Given the description of an element on the screen output the (x, y) to click on. 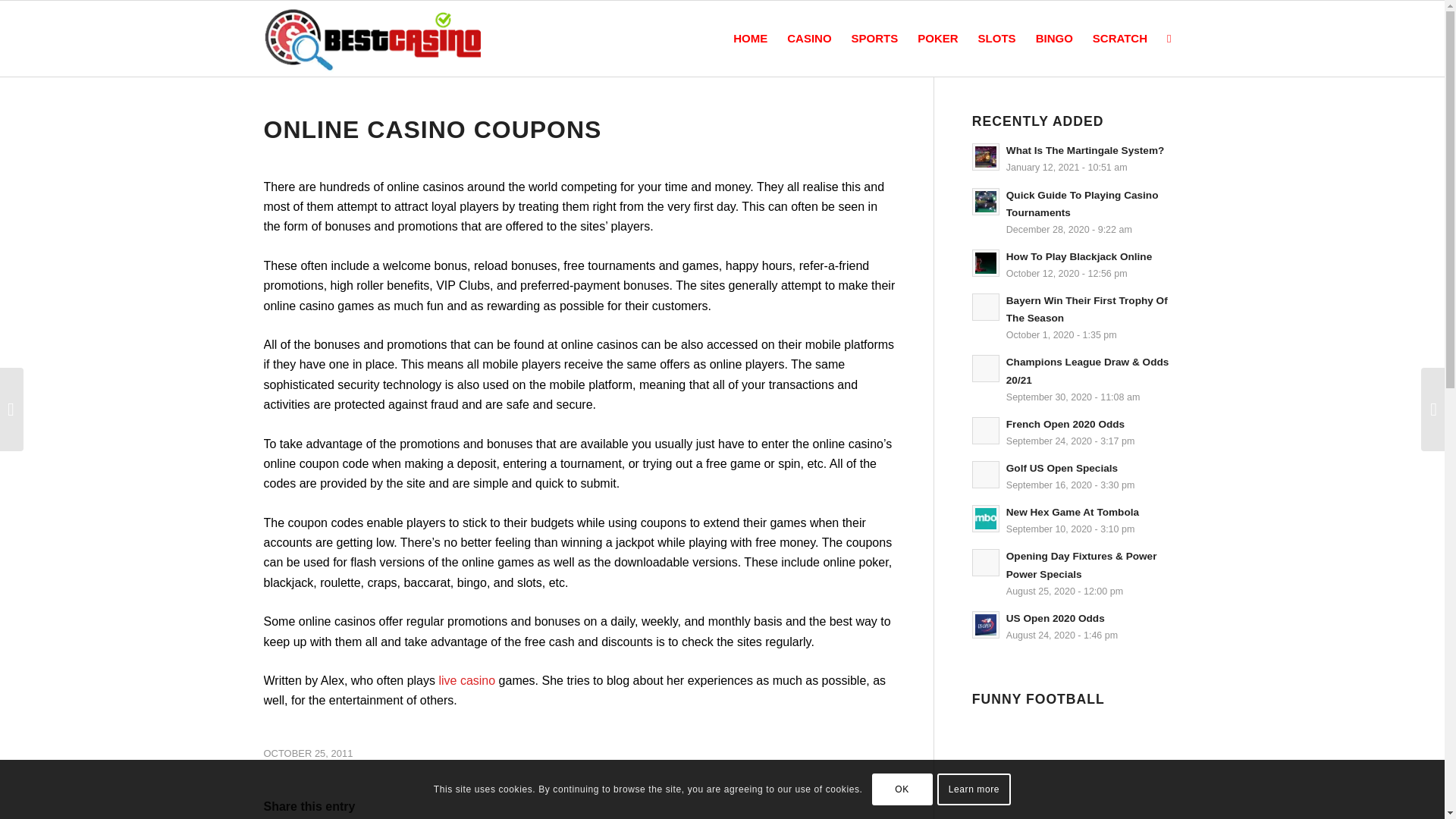
Read: What Is The Martingale System? (985, 156)
New Hex Game At Tombola (1072, 511)
US Open 2020 Odds (1055, 618)
SCRATCH (1120, 38)
Read: Bayern Win Their First Trophy Of The Season (1086, 308)
Read: What Is The Martingale System? (1084, 150)
Read: Quick Guide To Playing Casino Tournaments (1082, 203)
Read: Quick Guide To Playing Casino Tournaments (985, 201)
Quick Guide To Playing Casino Tournaments (1082, 203)
Read: How To Play Blackjack Online (985, 262)
Golf US Open Specials (1062, 468)
Bayern Win Their First Trophy Of The Season (1086, 308)
How To Play Blackjack Online (1078, 256)
French Open 2020 Odds (1065, 423)
What Is The Martingale System? (1084, 150)
